Given the description of an element on the screen output the (x, y) to click on. 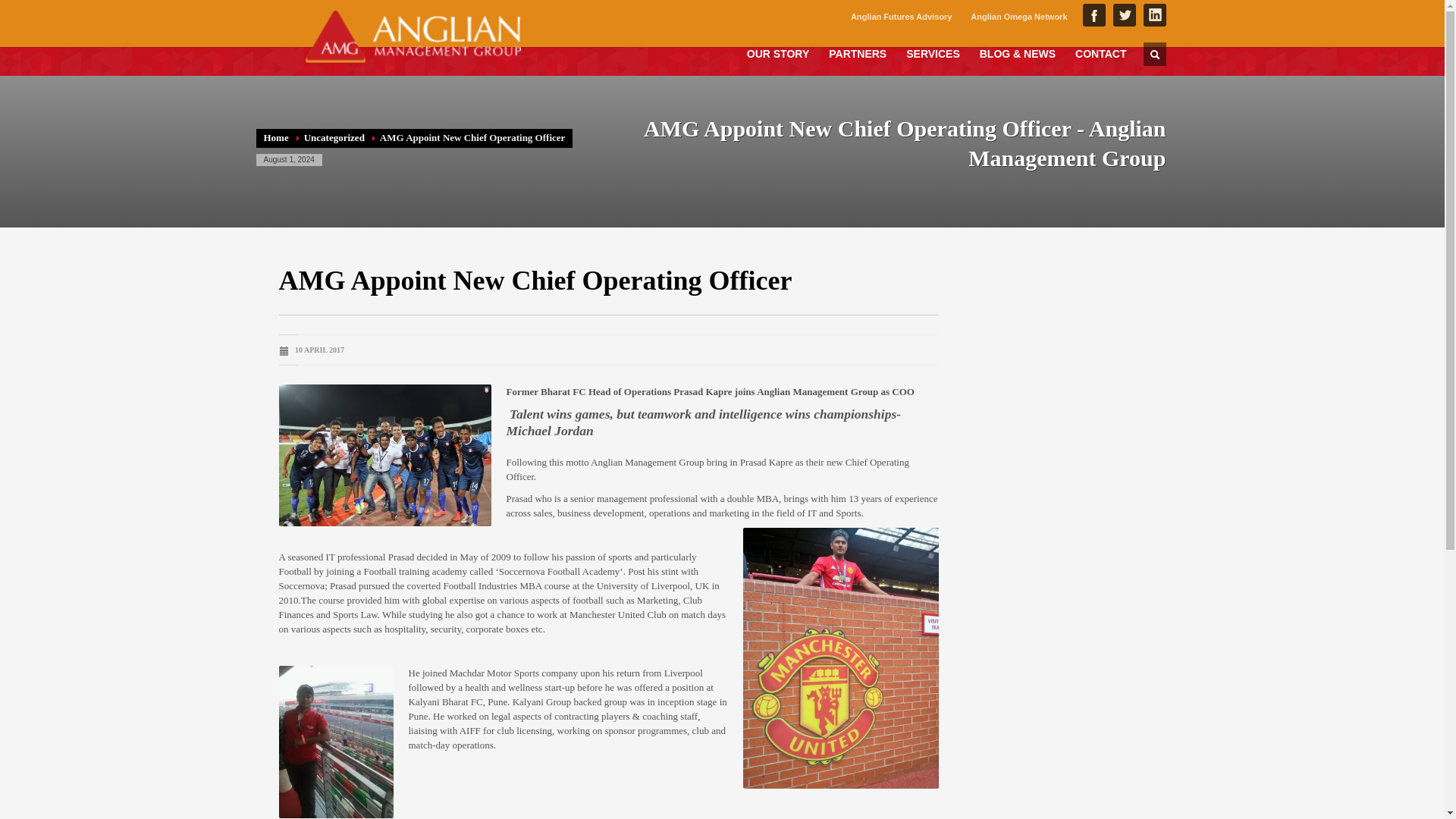
CONTACT (1100, 53)
Global Expertise for Local Success (412, 37)
PARTNERS (857, 53)
Anglian Omega Network (1019, 16)
Anglian Futures Advisory (901, 16)
OUR STORY (778, 53)
Home (275, 137)
SERVICES (932, 53)
Uncategorized (334, 137)
